Given the description of an element on the screen output the (x, y) to click on. 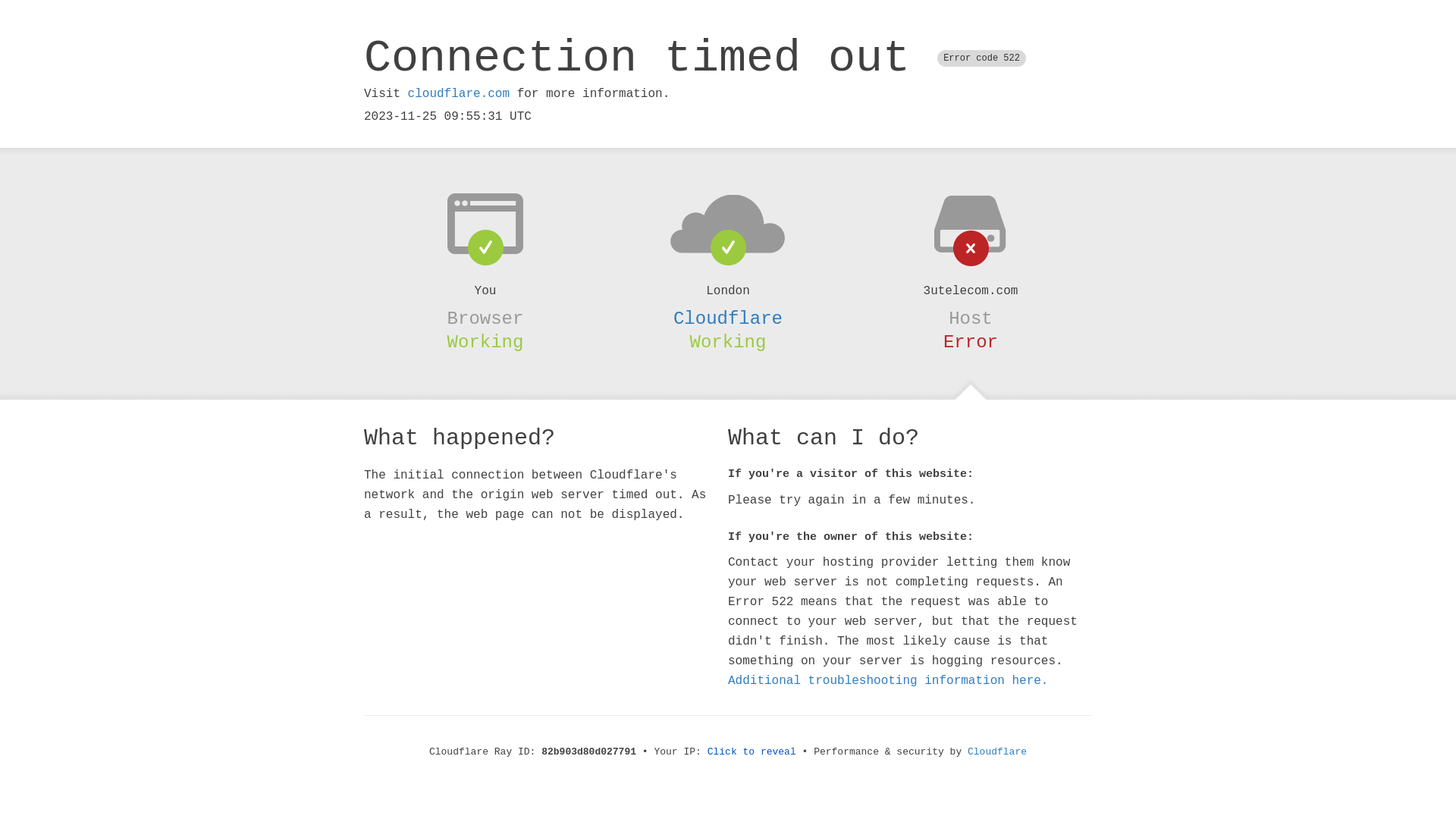
Cloudflare Element type: text (996, 751)
Additional troubleshooting information here. Element type: text (888, 680)
cloudflare.com Element type: text (458, 93)
Cloudflare Element type: text (727, 318)
Click to reveal Element type: text (751, 751)
